Given the description of an element on the screen output the (x, y) to click on. 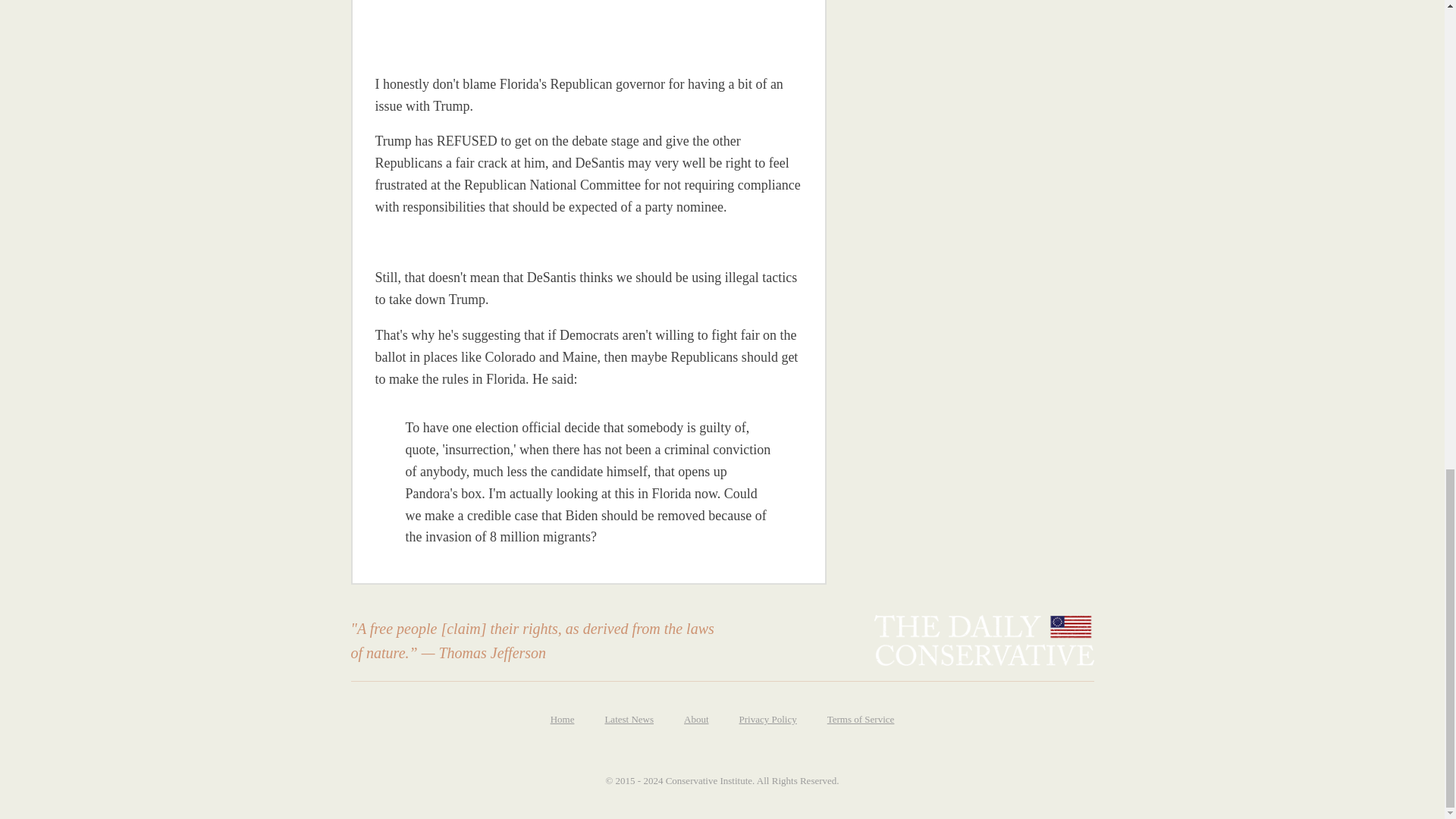
Latest News (628, 719)
Advertisement (480, 26)
Terms of Service (861, 719)
About (695, 719)
Home (562, 719)
Privacy Policy (767, 719)
Advertisement (954, 38)
